Given the description of an element on the screen output the (x, y) to click on. 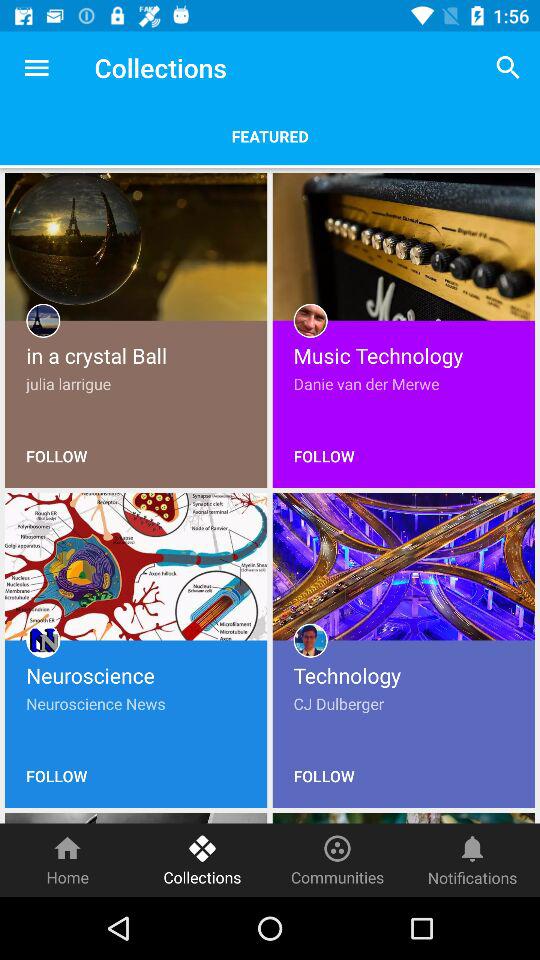
scroll until home (67, 859)
